Given the description of an element on the screen output the (x, y) to click on. 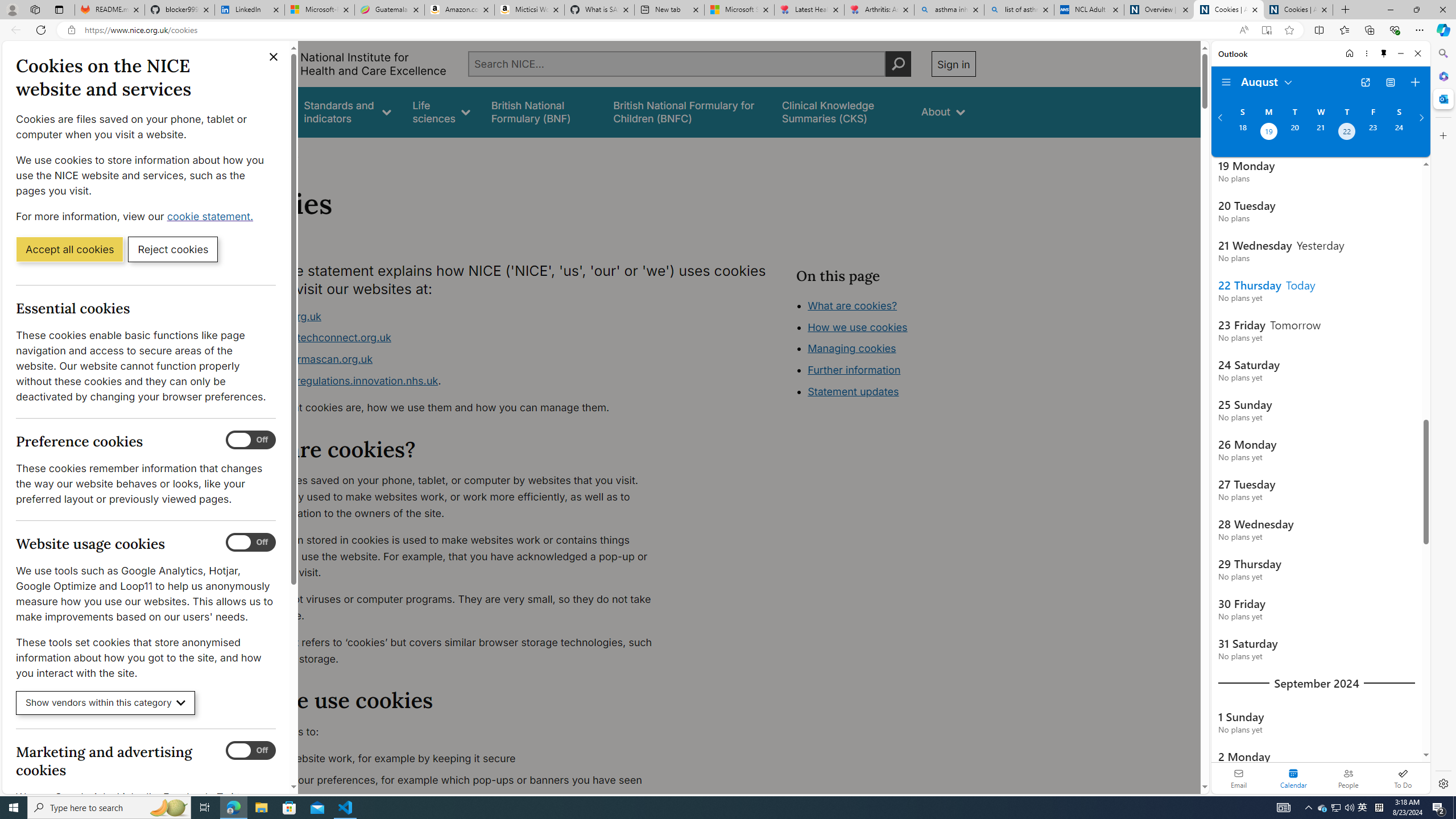
To Do (1402, 777)
www.ukpharmascan.org.uk (452, 359)
Reject cookies (173, 248)
Guidance (260, 111)
How we use cookies (896, 389)
www.digitalregulations.innovation.nhs.uk. (452, 380)
Further information (854, 369)
Guidance (260, 111)
Life sciences (440, 111)
British National Formulary for Children (BNFC) (686, 111)
Sign in (952, 63)
